Given the description of an element on the screen output the (x, y) to click on. 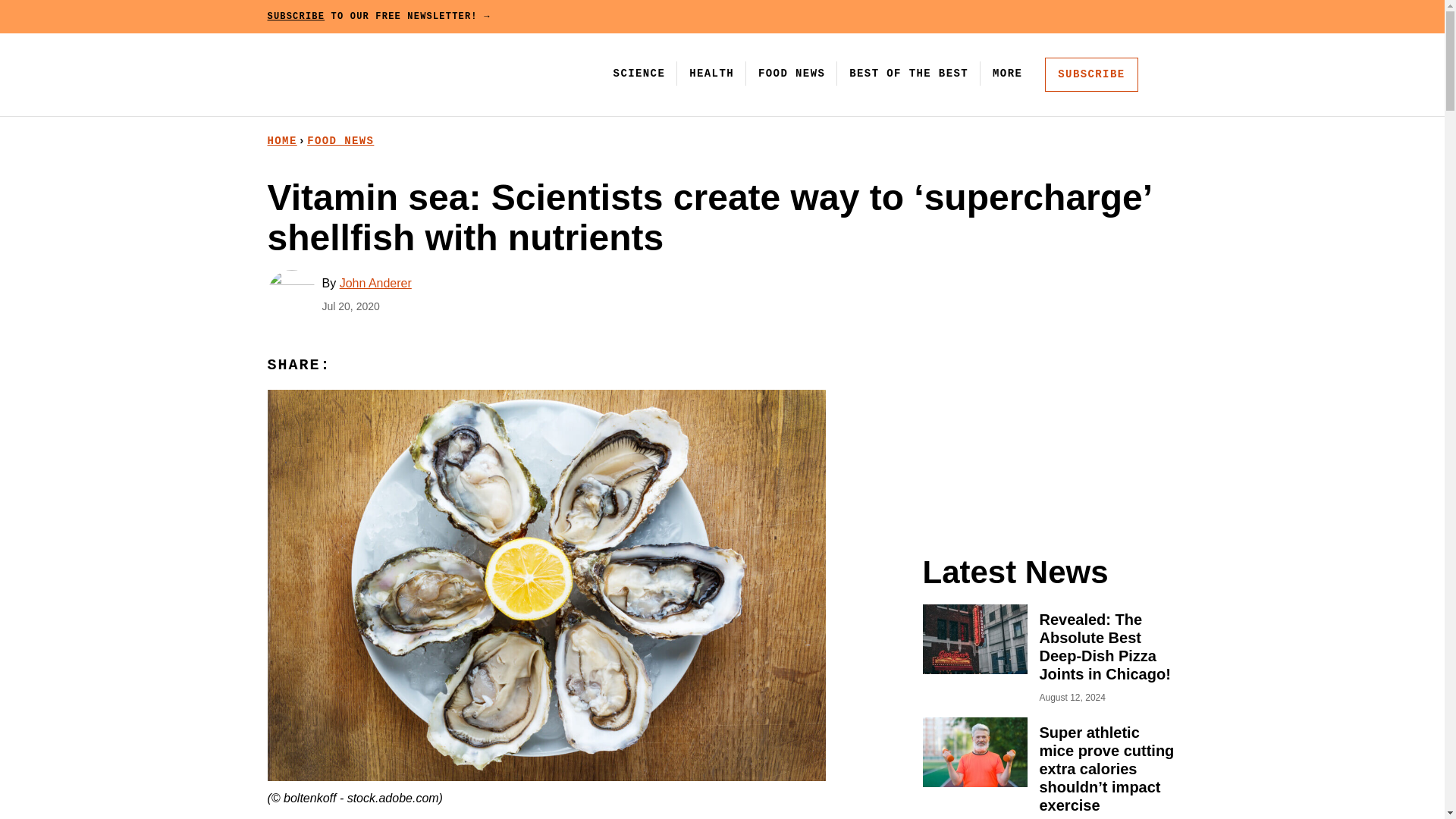
Share on Pinterest (348, 365)
FOOD NEWS (340, 141)
Share via Email (480, 365)
Share on Facebook (381, 365)
Share on Twitter (413, 365)
HOME (281, 141)
HEALTH (711, 73)
Share on Yummly (447, 365)
BEST OF THE BEST (908, 73)
SUBSCRIBE (1091, 74)
